Given the description of an element on the screen output the (x, y) to click on. 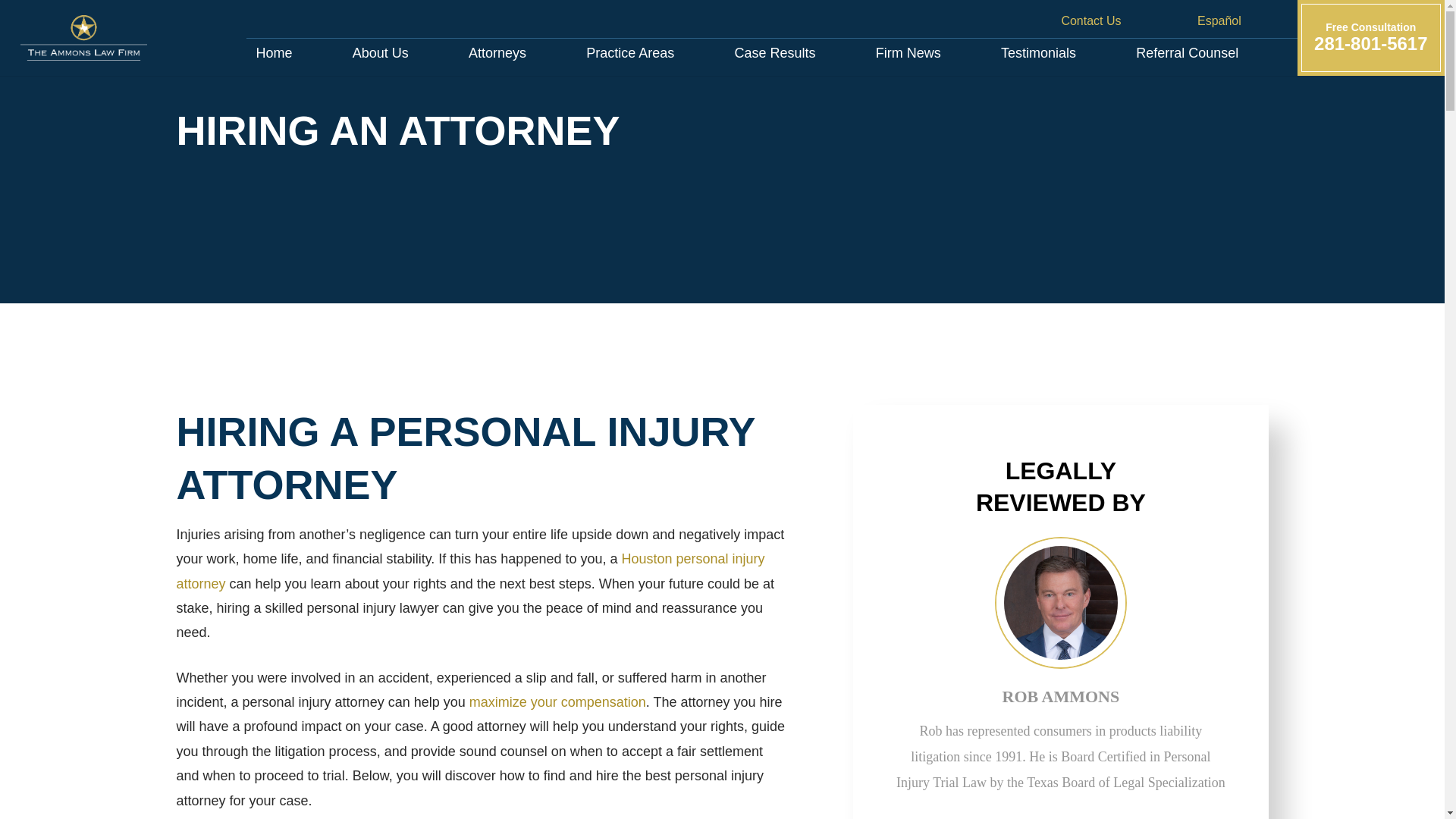
Contact Us (1054, 19)
About Us (1370, 37)
Attorneys (379, 52)
Case Results (497, 52)
Testimonials (774, 52)
Practice Areas (1038, 52)
Firm News (630, 52)
Referral Counsel (908, 52)
Home (1187, 52)
